Given the description of an element on the screen output the (x, y) to click on. 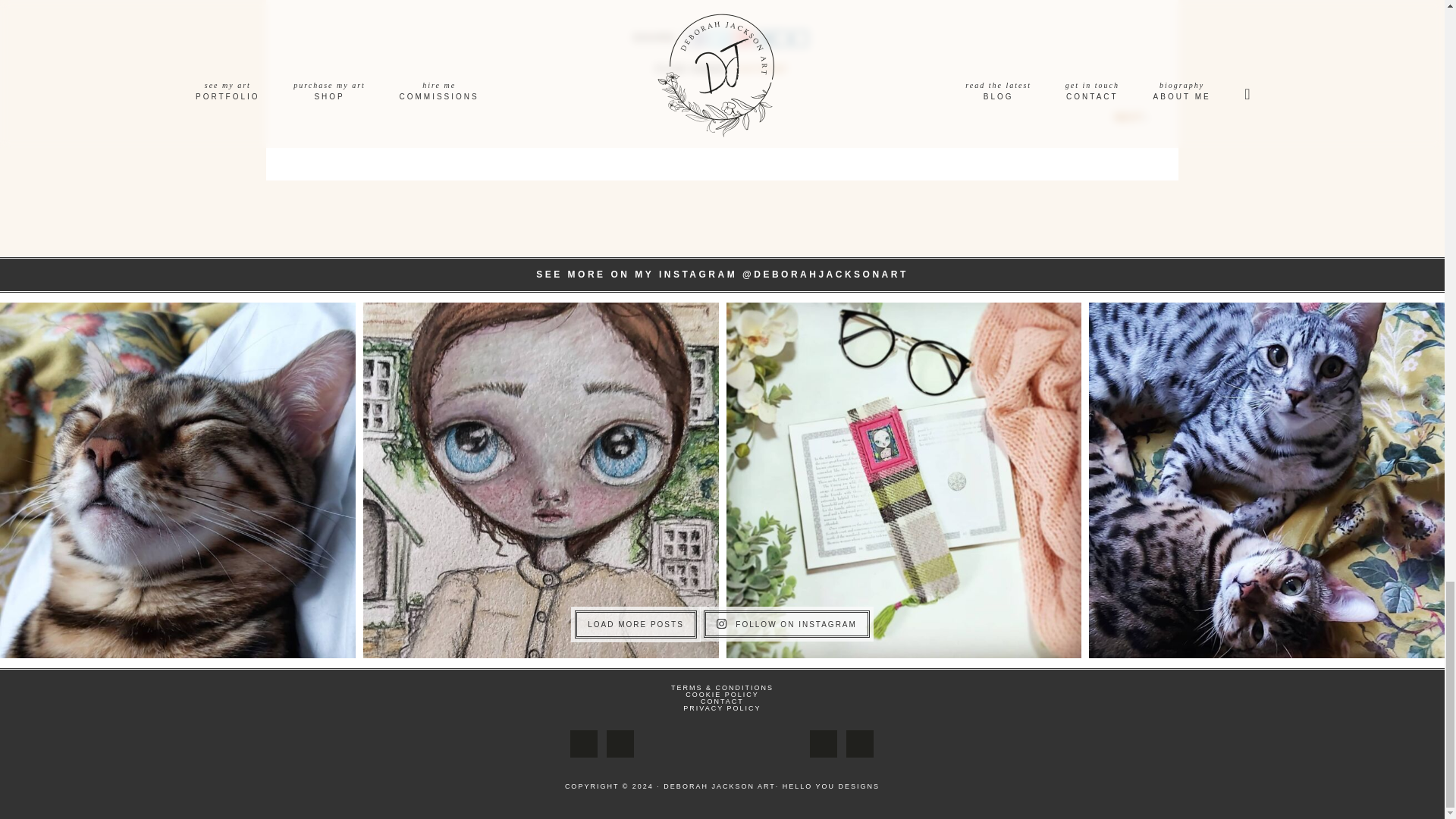
NEXT (1128, 117)
Share (766, 38)
0 (792, 38)
Pin (742, 38)
FOLLOW ON INSTAGRAM (786, 624)
LOAD MORE POSTS (636, 624)
Share (719, 38)
CHITCHAT (762, 69)
Share (695, 38)
